Given the description of an element on the screen output the (x, y) to click on. 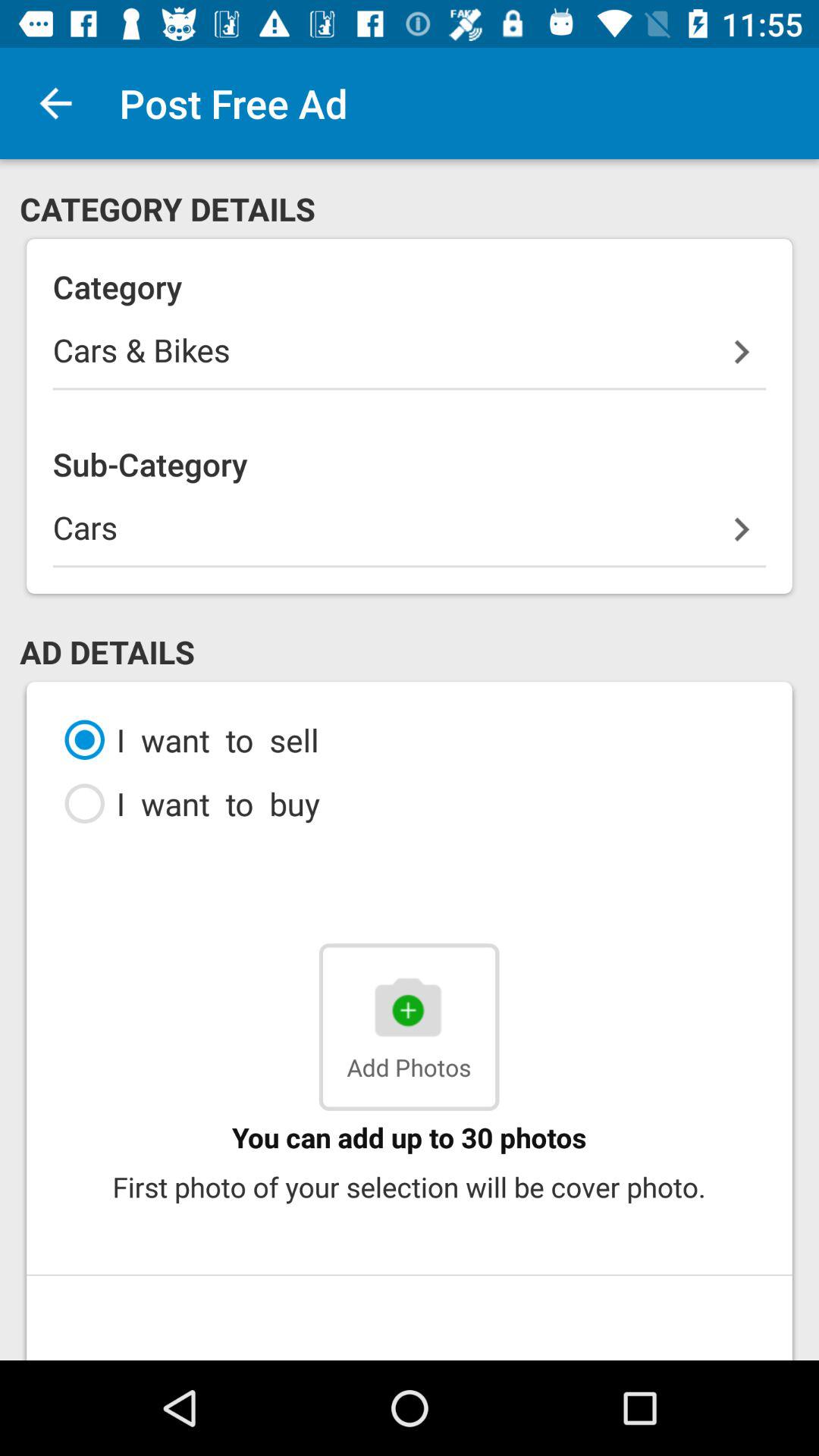
open item below category icon (409, 359)
